Given the description of an element on the screen output the (x, y) to click on. 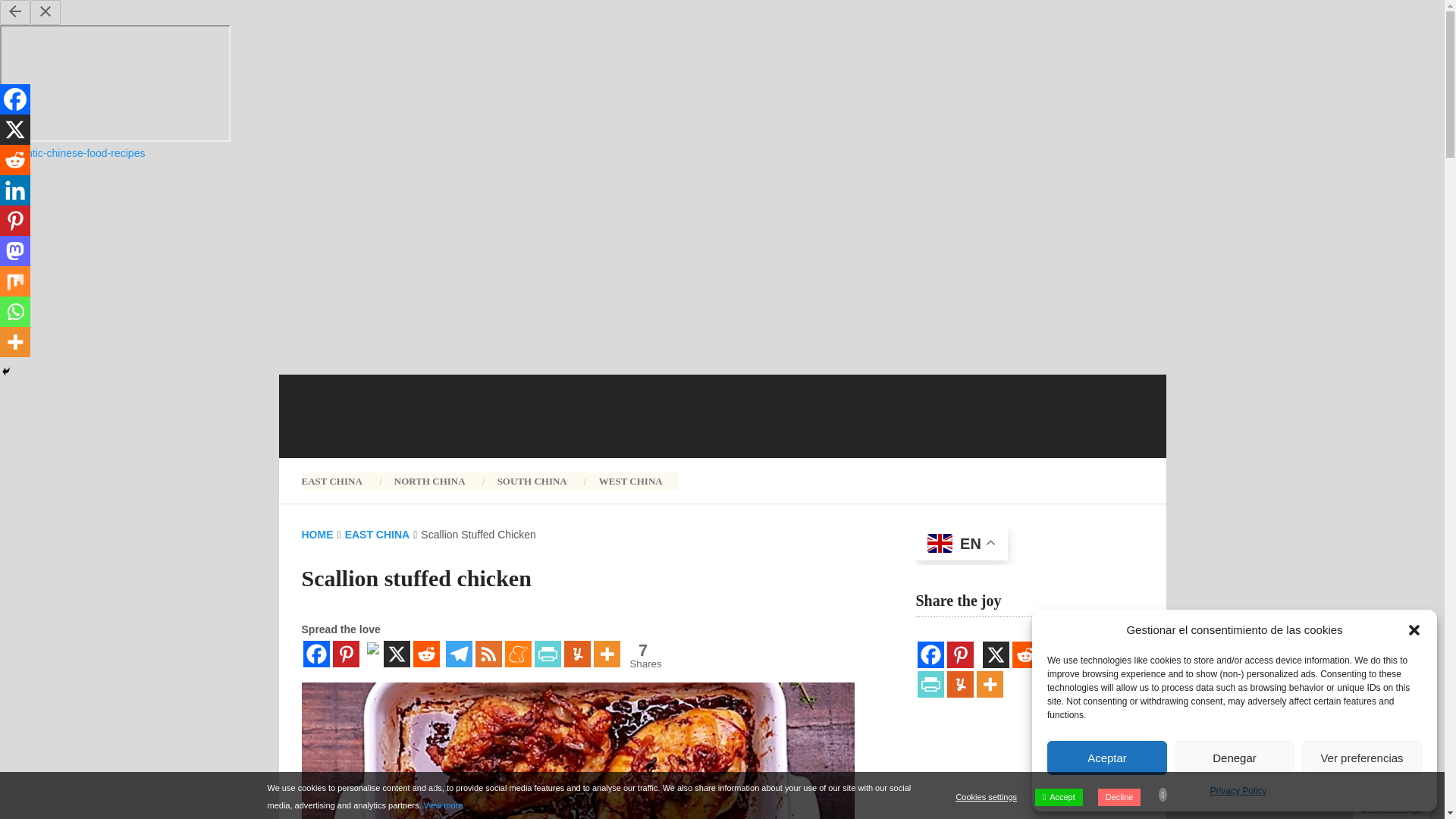
EAST CHINA (377, 534)
HOME (317, 534)
PrintFriendly (547, 653)
NORTH CHINA (429, 479)
Yummly (577, 653)
Aceptar (1106, 757)
RSS Feed (487, 653)
EAST CHINA (339, 479)
Facebook (316, 653)
Meneame (518, 653)
WEST CHINA (630, 479)
Privacy Policy (640, 655)
More (1237, 791)
Telegram (606, 653)
